Given the description of an element on the screen output the (x, y) to click on. 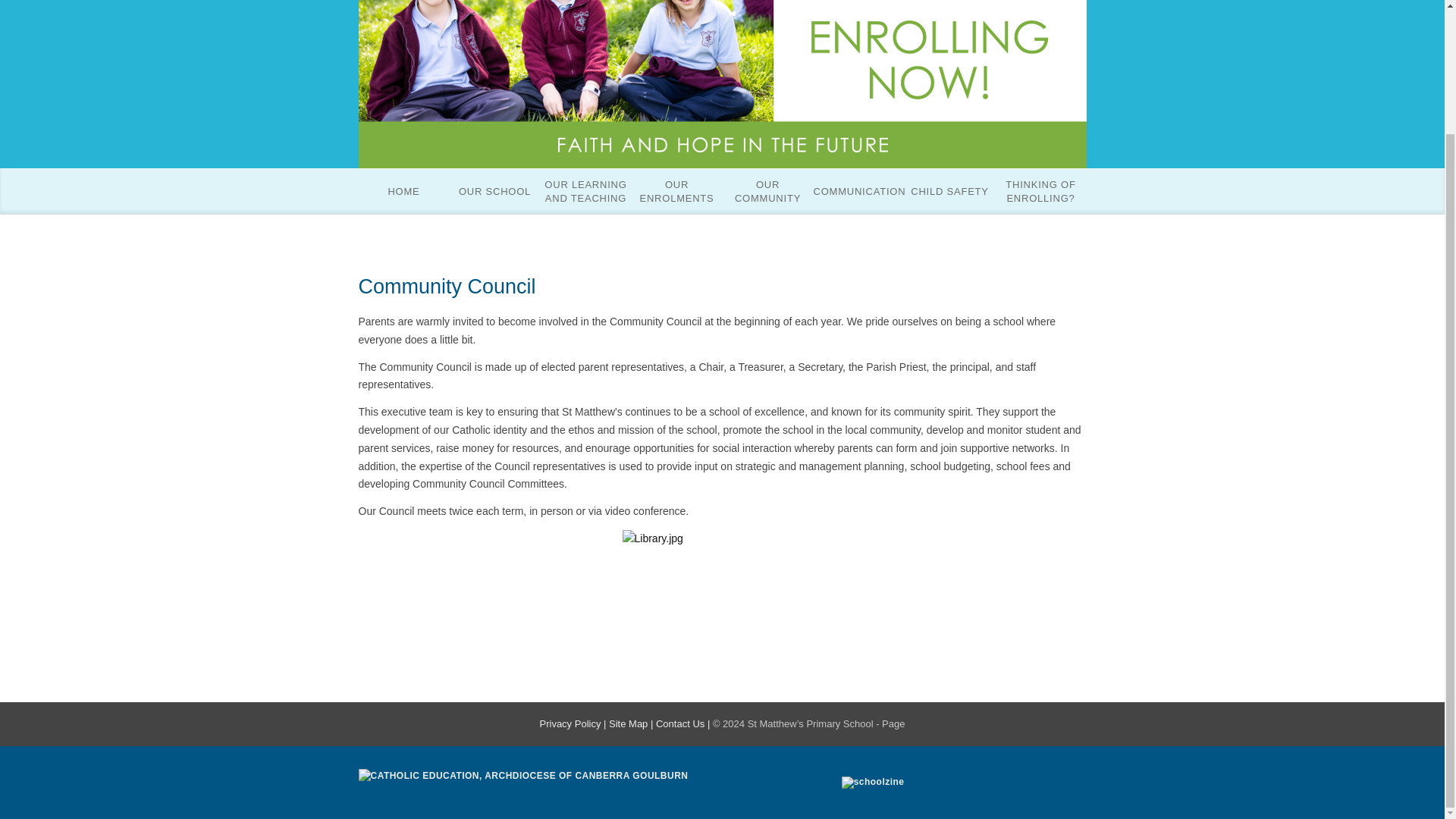
Home (403, 191)
CHILD SAFETY (949, 191)
OUR LEARNING AND TEACHING (585, 191)
COMMUNICATION (858, 191)
OUR SCHOOL (494, 191)
OUR COMMUNITY (767, 191)
OUR ENROLMENTS (676, 191)
THINKING OF ENROLLING? (1040, 191)
Our Learning and Teaching (585, 191)
Our Enrolments (676, 191)
